Given the description of an element on the screen output the (x, y) to click on. 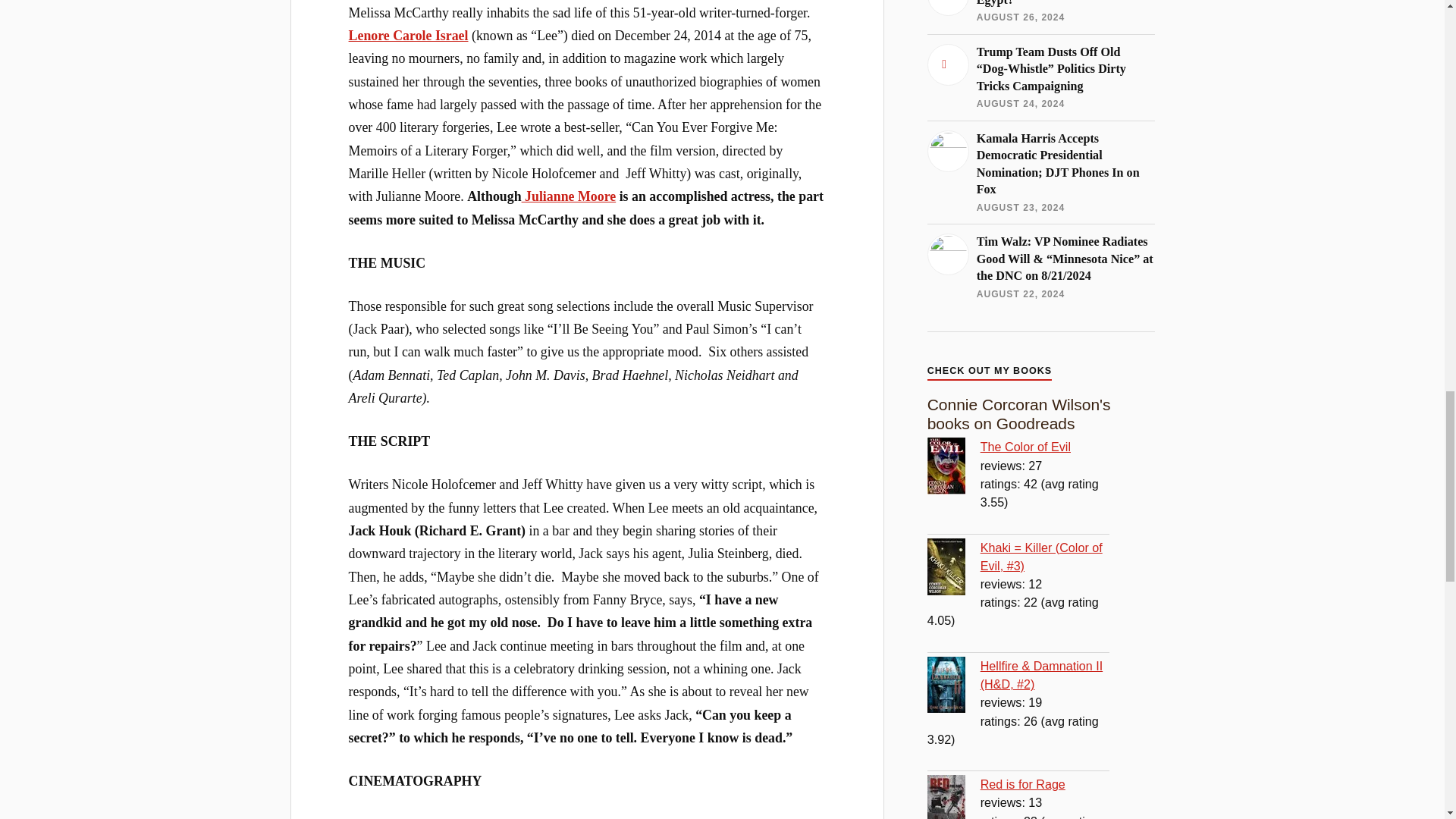
Julianne Moore (568, 196)
Lenore Carole Israel (408, 35)
Red is for Rage (953, 796)
